Given the description of an element on the screen output the (x, y) to click on. 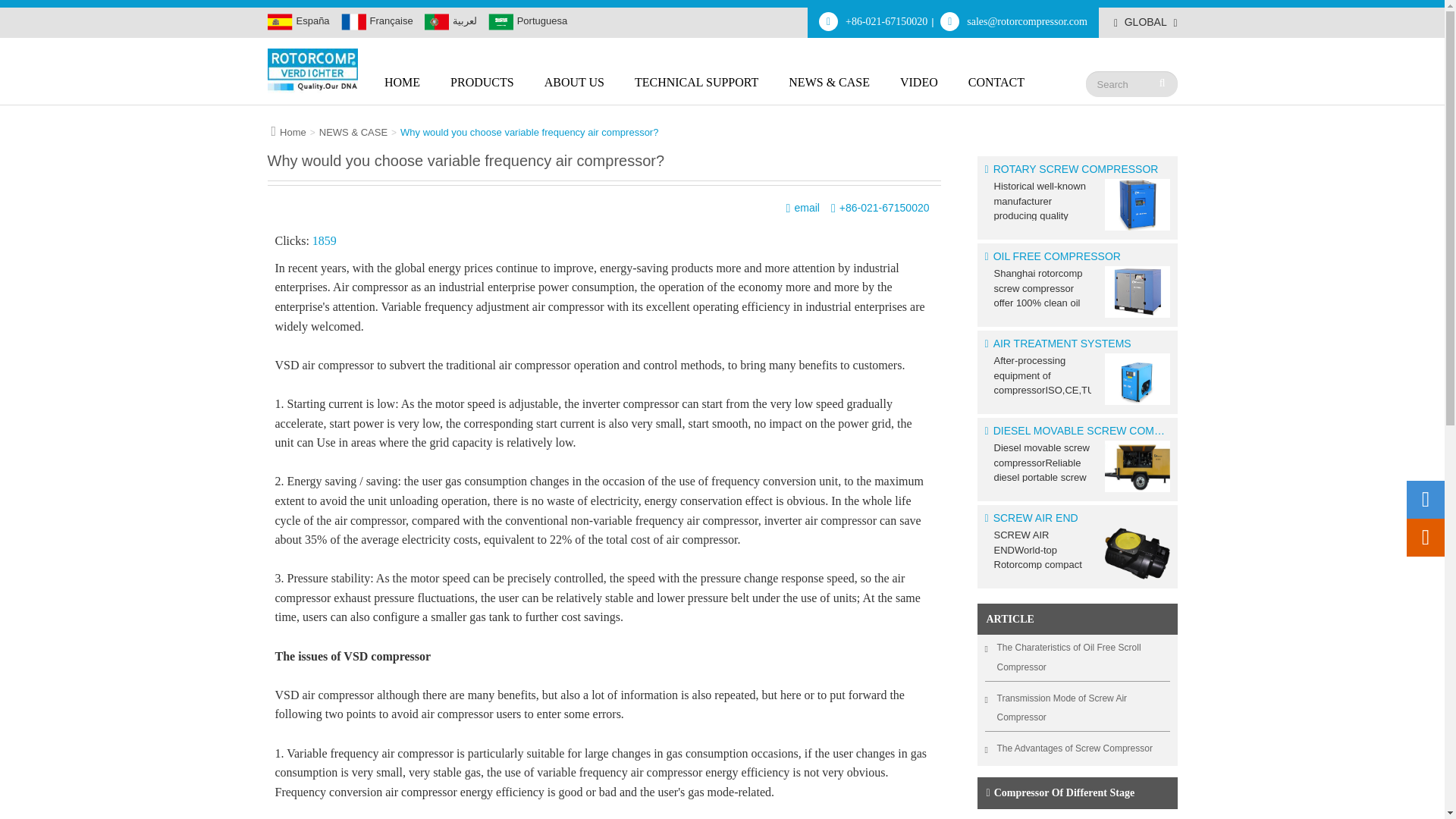
HOME (402, 88)
PRODUCTS (482, 88)
GLOBAL (1145, 22)
Portuguesa (527, 20)
